Given the description of an element on the screen output the (x, y) to click on. 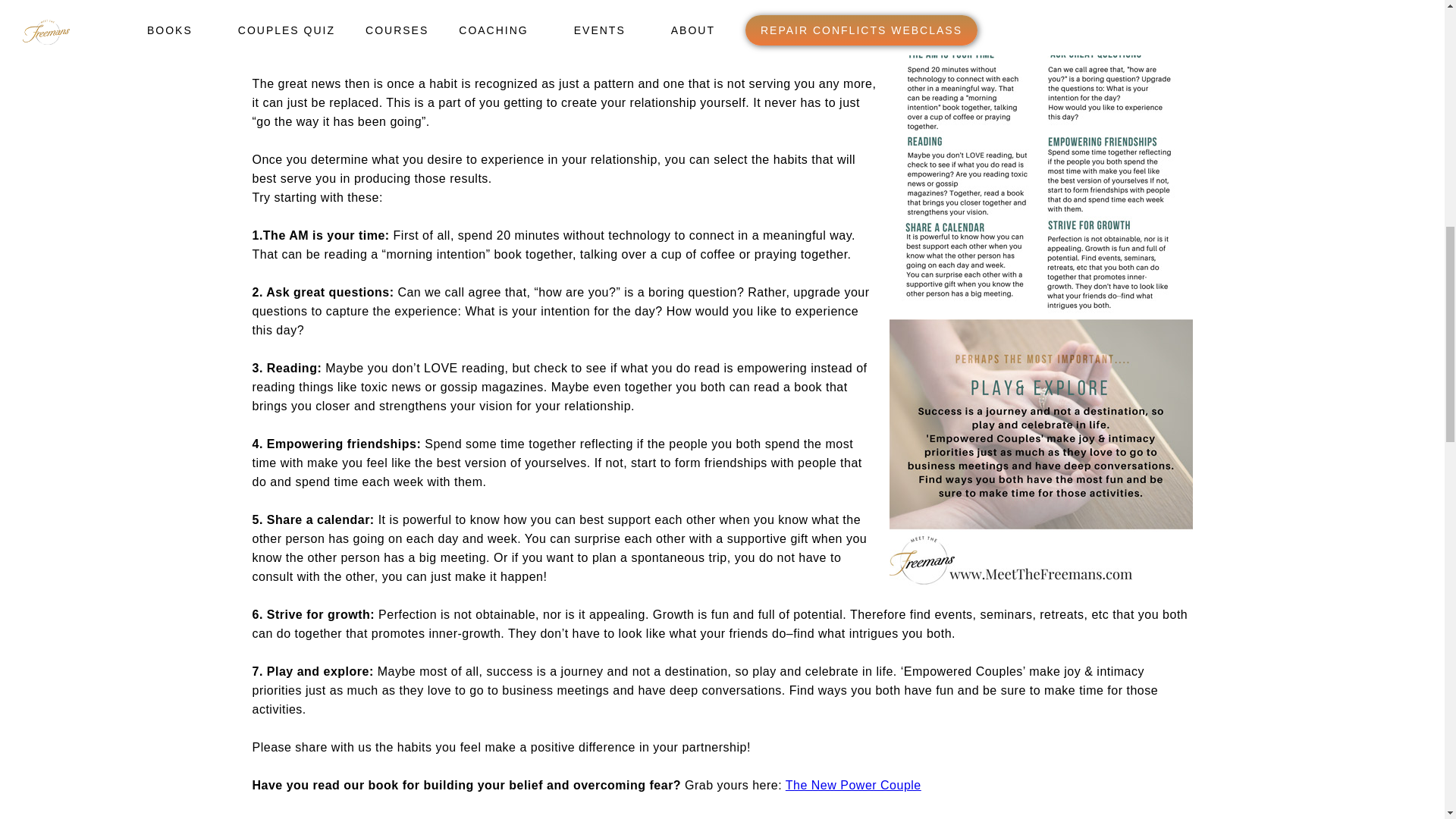
The New Power Couple (853, 784)
